Given the description of an element on the screen output the (x, y) to click on. 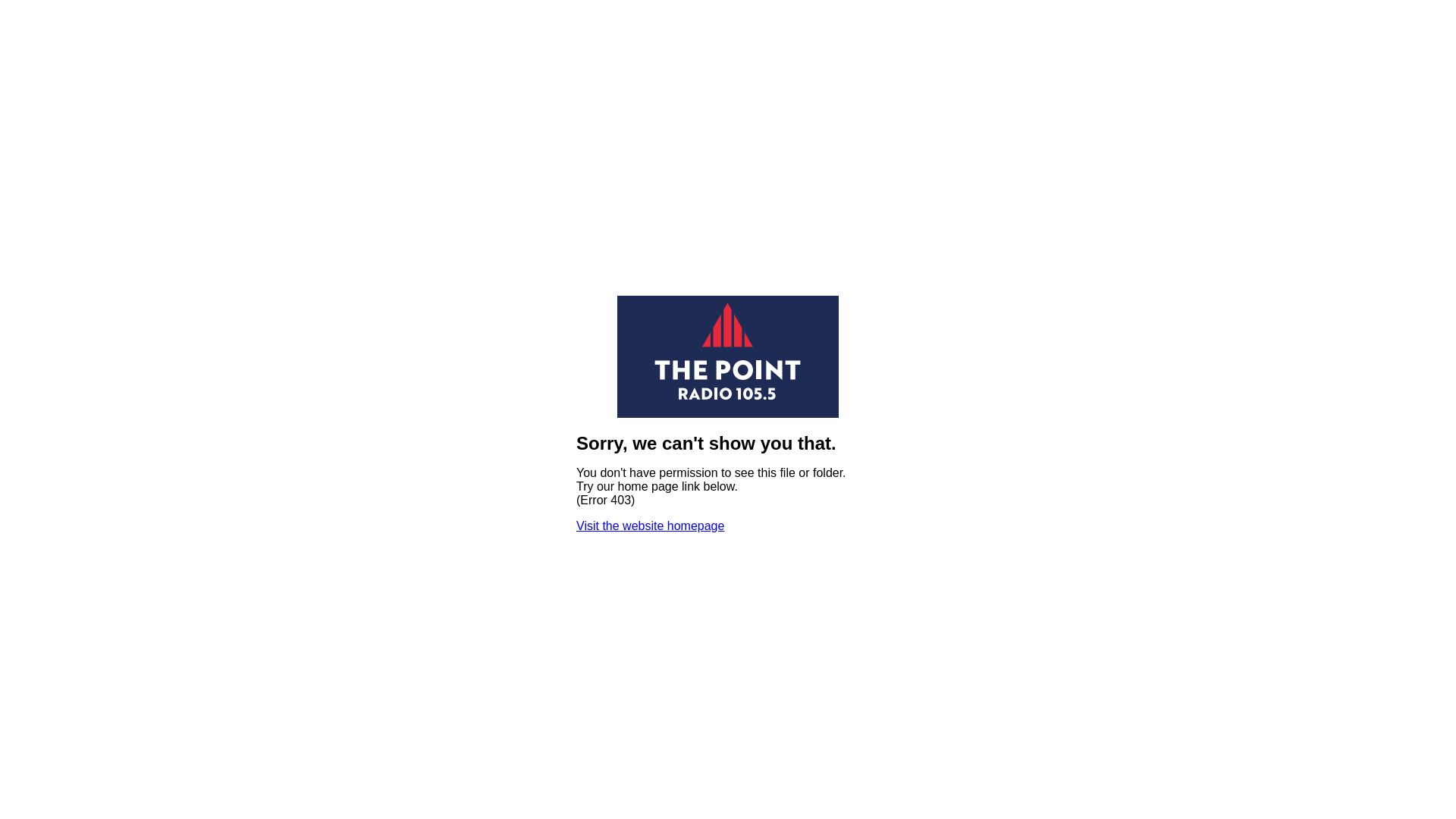
Visit the website homepage Element type: text (650, 525)
